Given the description of an element on the screen output the (x, y) to click on. 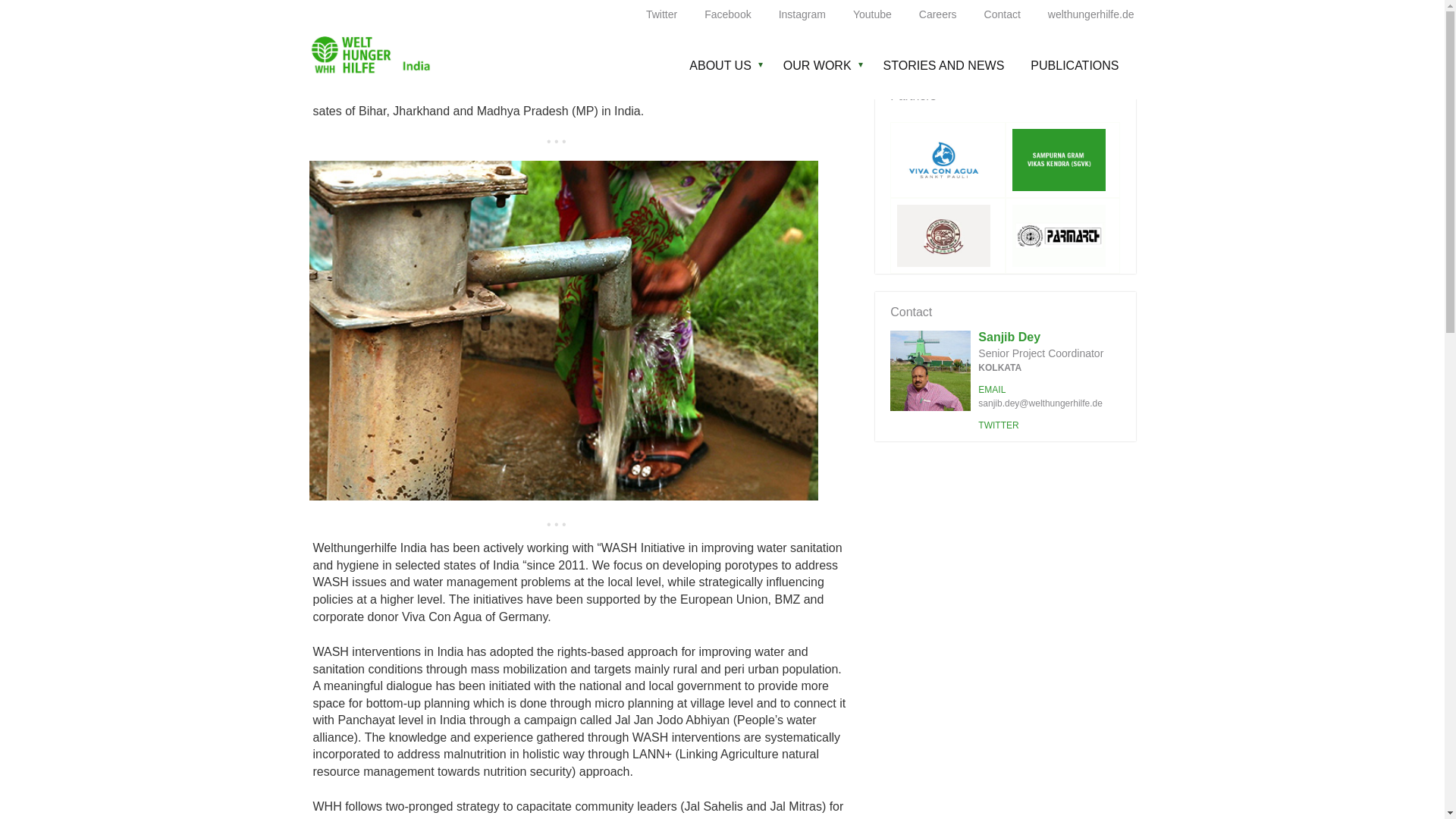
Careers (937, 13)
OUR WORK (824, 65)
welthungerhilfe.de (1088, 13)
Youtube (872, 13)
Contact (1002, 13)
Facebook (727, 13)
Twitter (661, 13)
ABOUT US (727, 65)
STORIES AND NEWS (948, 65)
PUBLICATIONS (1072, 65)
Instagram (801, 13)
